Given the description of an element on the screen output the (x, y) to click on. 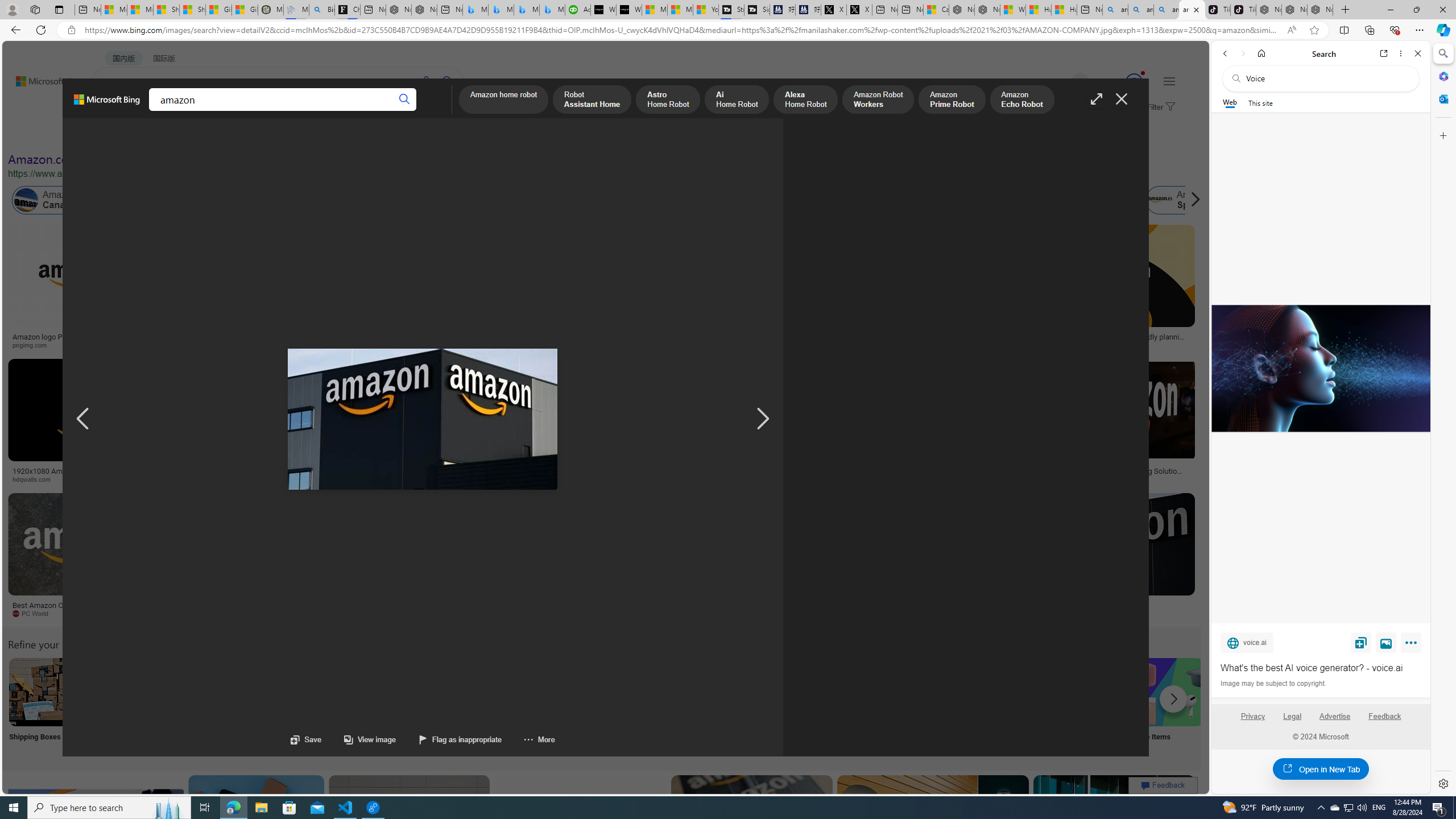
Amazon.com. Spend less. Smile more. (110, 158)
Sale Items (1169, 706)
License (377, 135)
View image (358, 739)
Amazon Sign in My Account (718, 691)
Class: item col (1183, 199)
Search button (404, 99)
Forward (1242, 53)
Amazon Log into My Account (268, 691)
Search the web (1326, 78)
Amazon Shoes (1103, 199)
aiophotoz.com (378, 613)
